Given the description of an element on the screen output the (x, y) to click on. 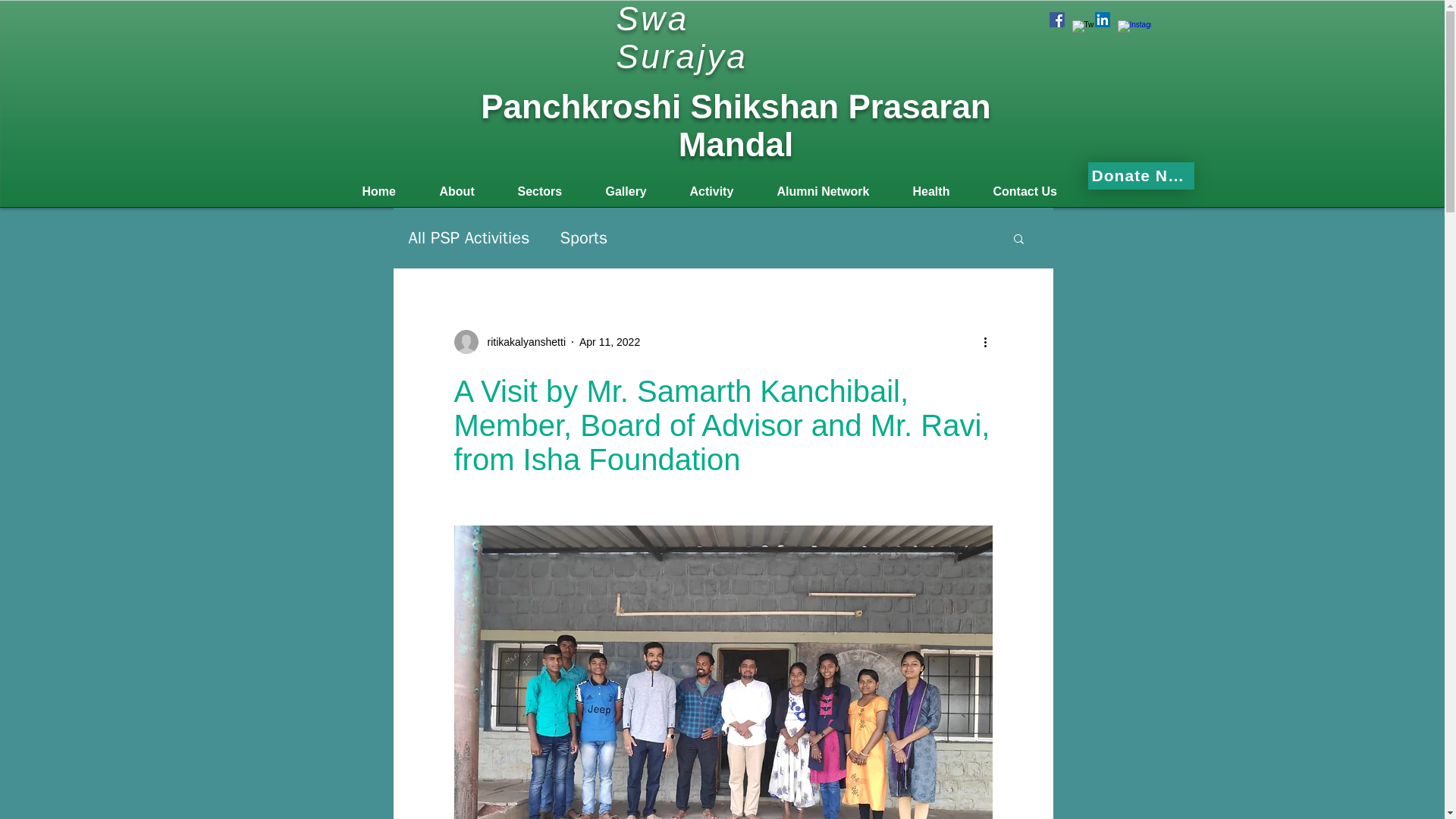
Donate Now (1140, 175)
All PSP Activities (468, 237)
ritikakalyanshetti (521, 341)
Sports (583, 237)
Activity (721, 190)
Home (388, 190)
Contact Us (1034, 190)
Apr 11, 2022 (609, 340)
Gallery (634, 190)
